Given the description of an element on the screen output the (x, y) to click on. 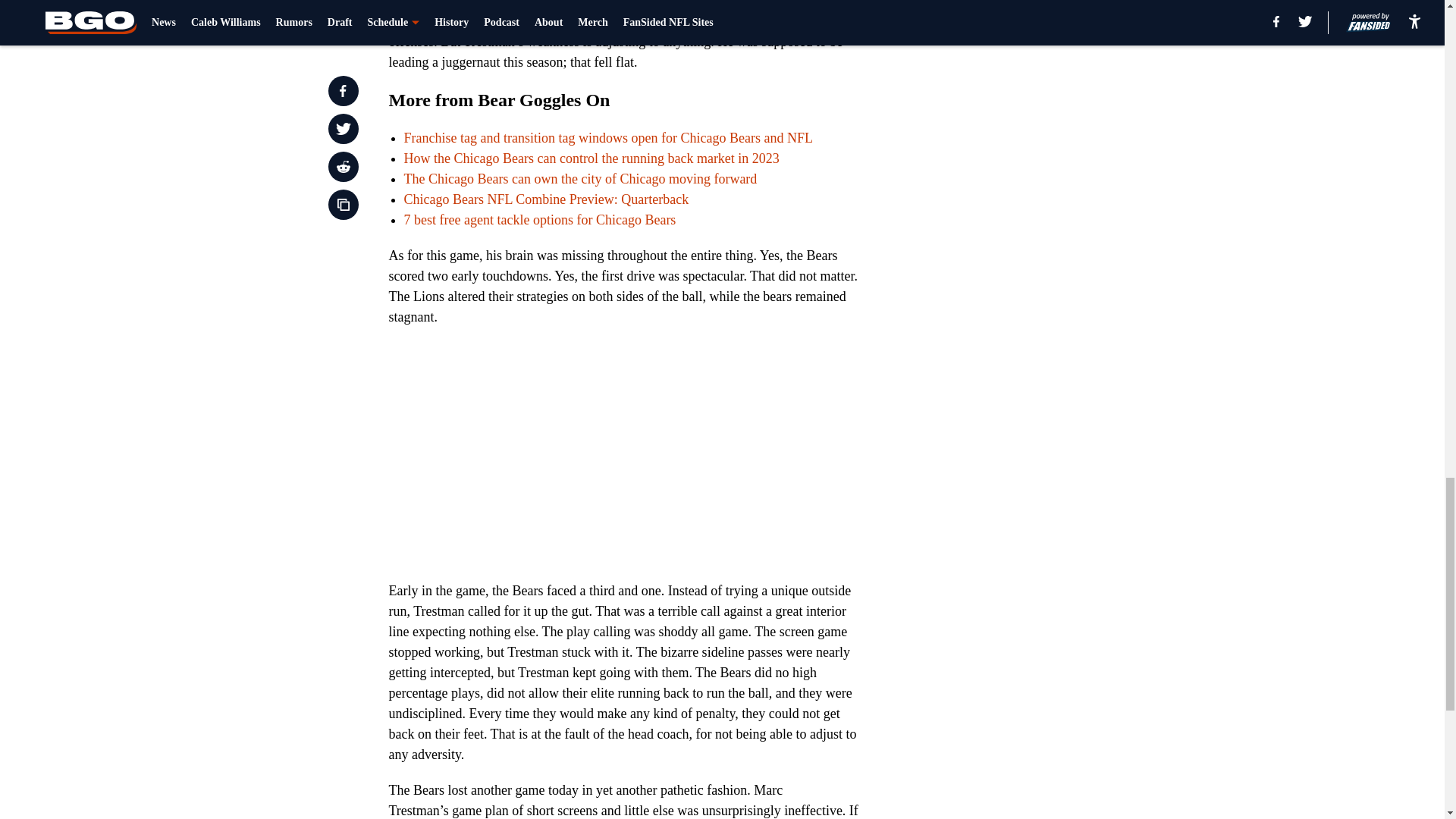
The Chicago Bears can own the city of Chicago moving forward (580, 178)
7 best free agent tackle options for Chicago Bears (539, 219)
Chicago Bears NFL Combine Preview: Quarterback (545, 199)
